Given the description of an element on the screen output the (x, y) to click on. 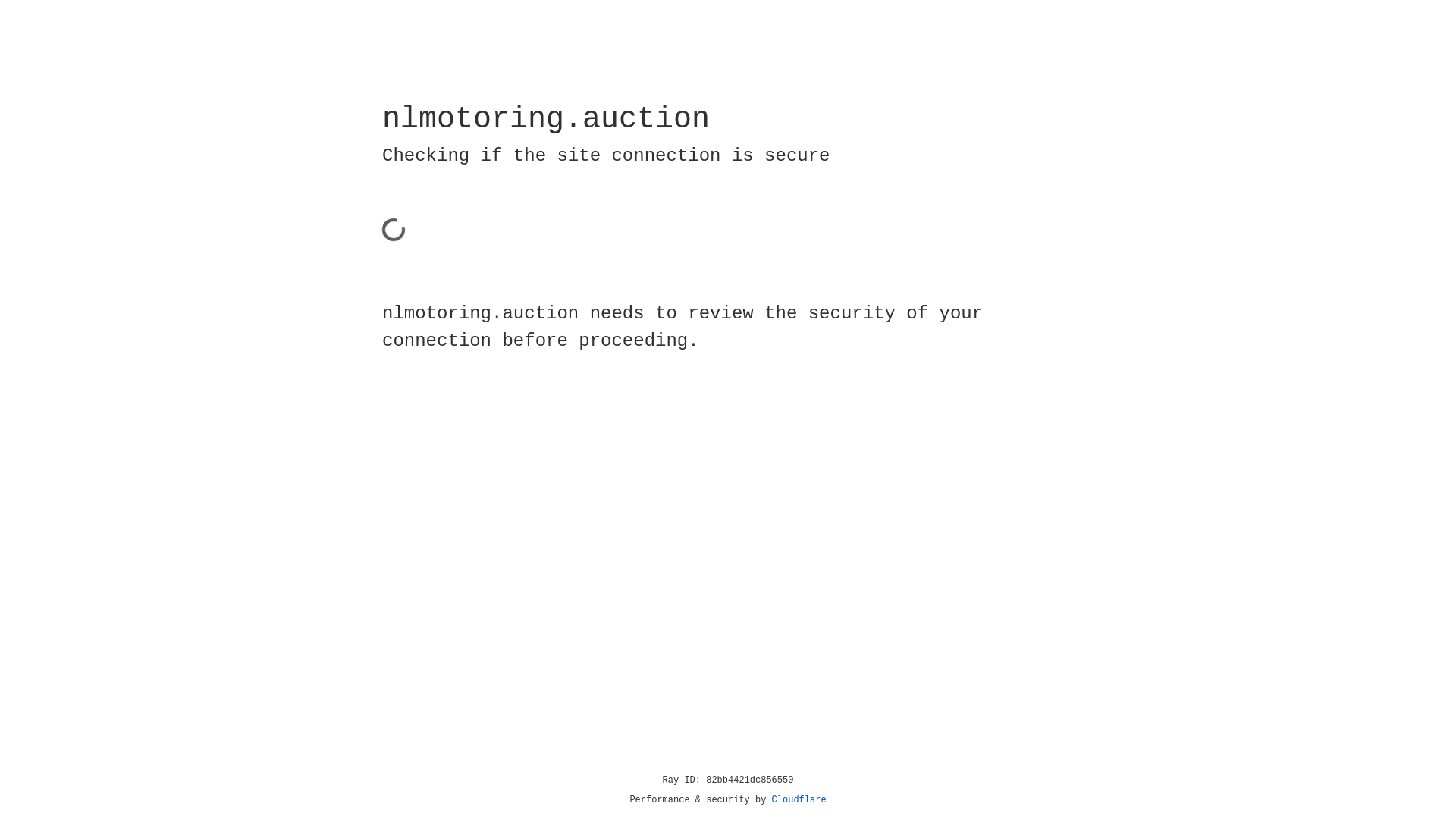
Cloudflare Element type: text (798, 799)
